Given the description of an element on the screen output the (x, y) to click on. 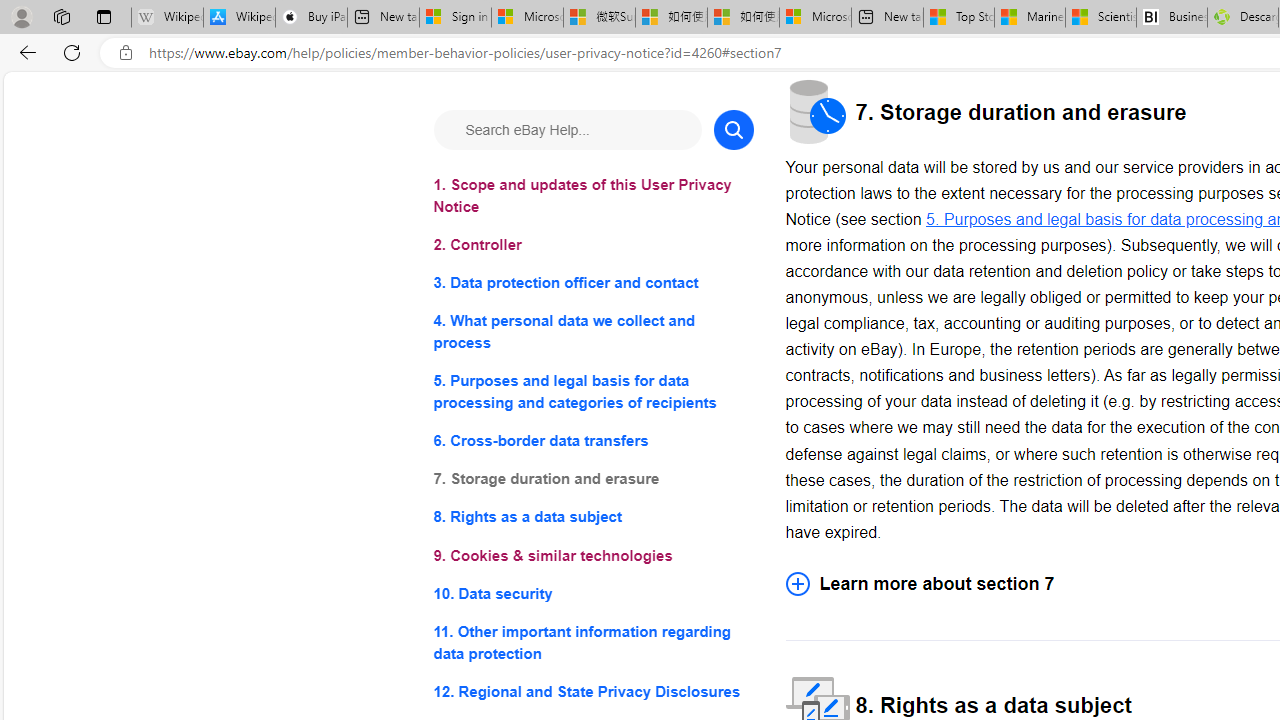
Microsoft account | Account Checkup (815, 17)
2. Controller (592, 245)
3. Data protection officer and contact (592, 283)
8. Rights as a data subject (592, 517)
9. Cookies & similar technologies (592, 555)
8. Rights as a data subject (592, 517)
9. Cookies & similar technologies (592, 555)
Wikipedia - Sleeping (167, 17)
1. Scope and updates of this User Privacy Notice (592, 196)
Top Stories - MSN (959, 17)
Microsoft Services Agreement (527, 17)
